Given the description of an element on the screen output the (x, y) to click on. 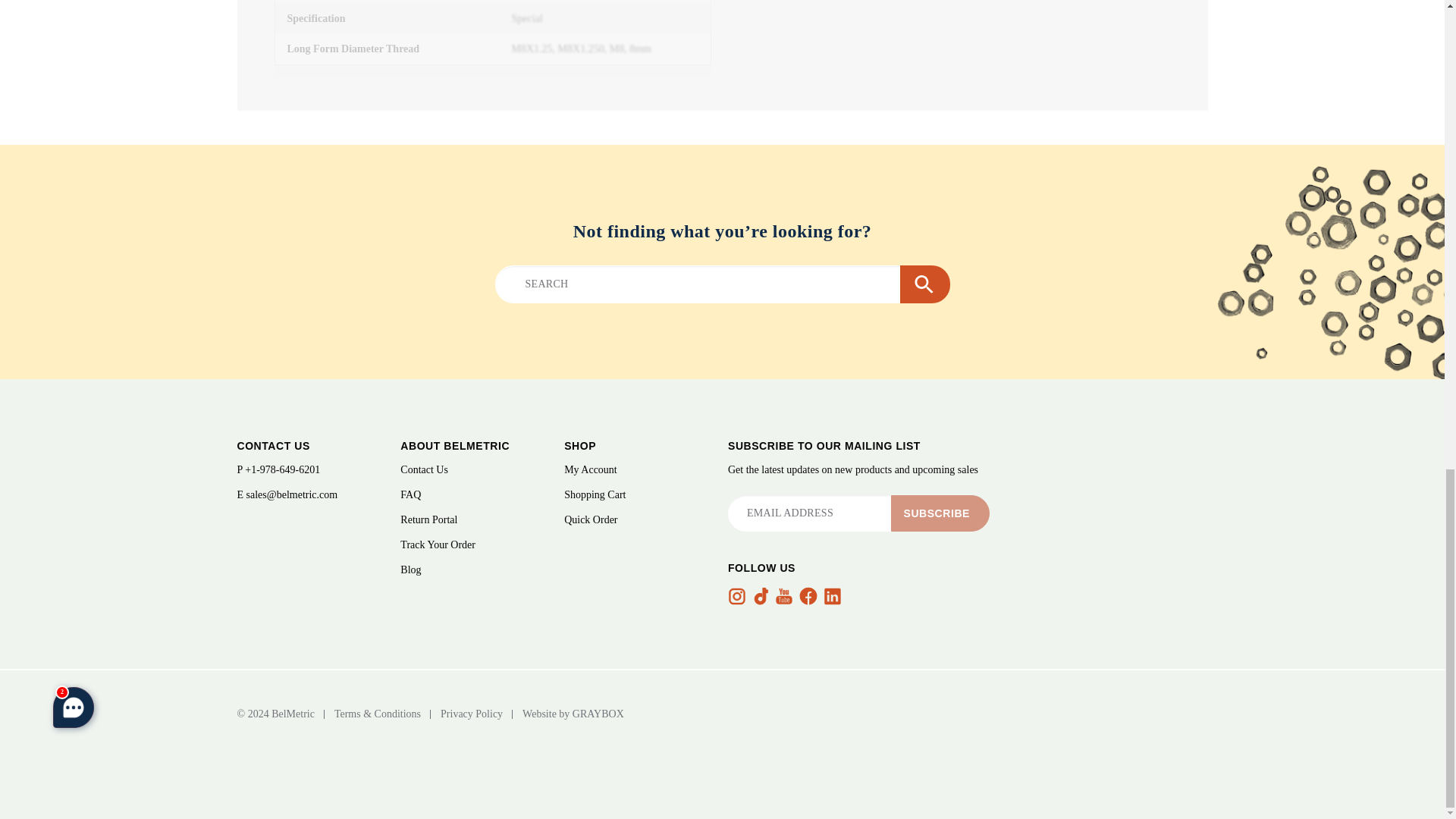
Subscribe (940, 513)
